Given the description of an element on the screen output the (x, y) to click on. 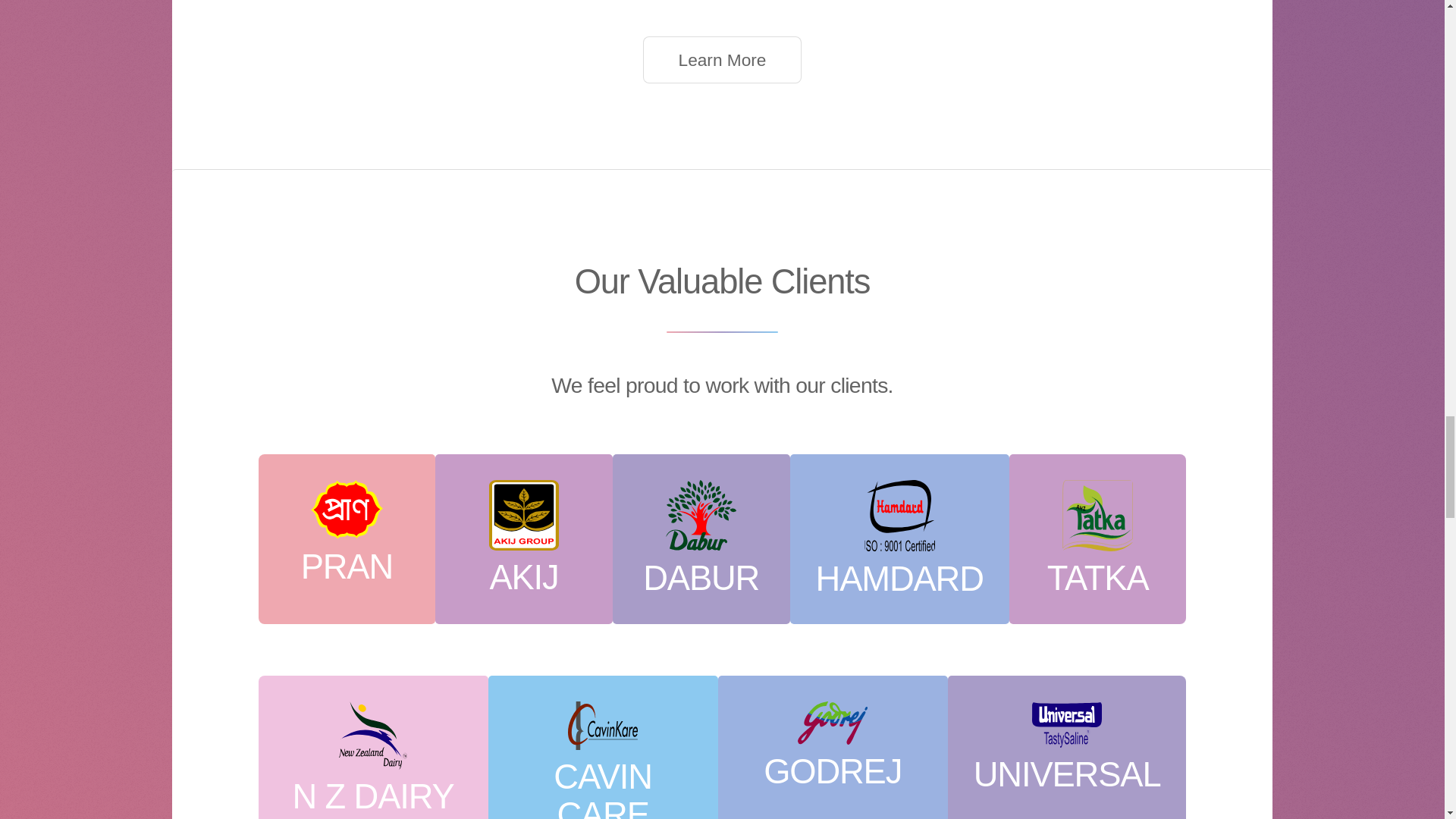
Learn More (722, 59)
